Given the description of an element on the screen output the (x, y) to click on. 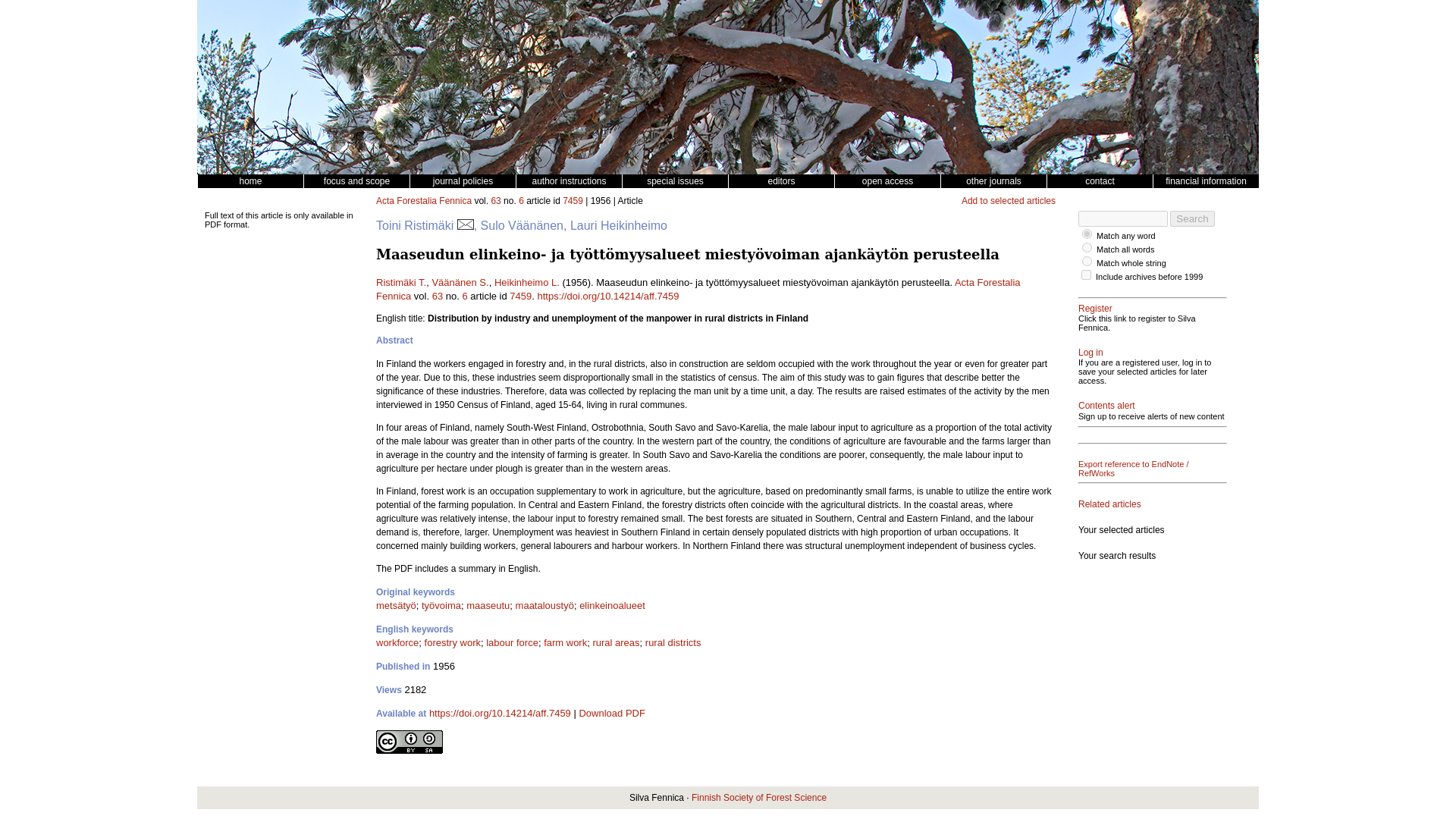
home (249, 181)
Corresponding author (465, 225)
author instructions (568, 181)
and (1086, 247)
financial information (1206, 181)
other journals (993, 181)
Search (1192, 218)
open access (887, 181)
on (1085, 275)
7459 (572, 200)
